Given the description of an element on the screen output the (x, y) to click on. 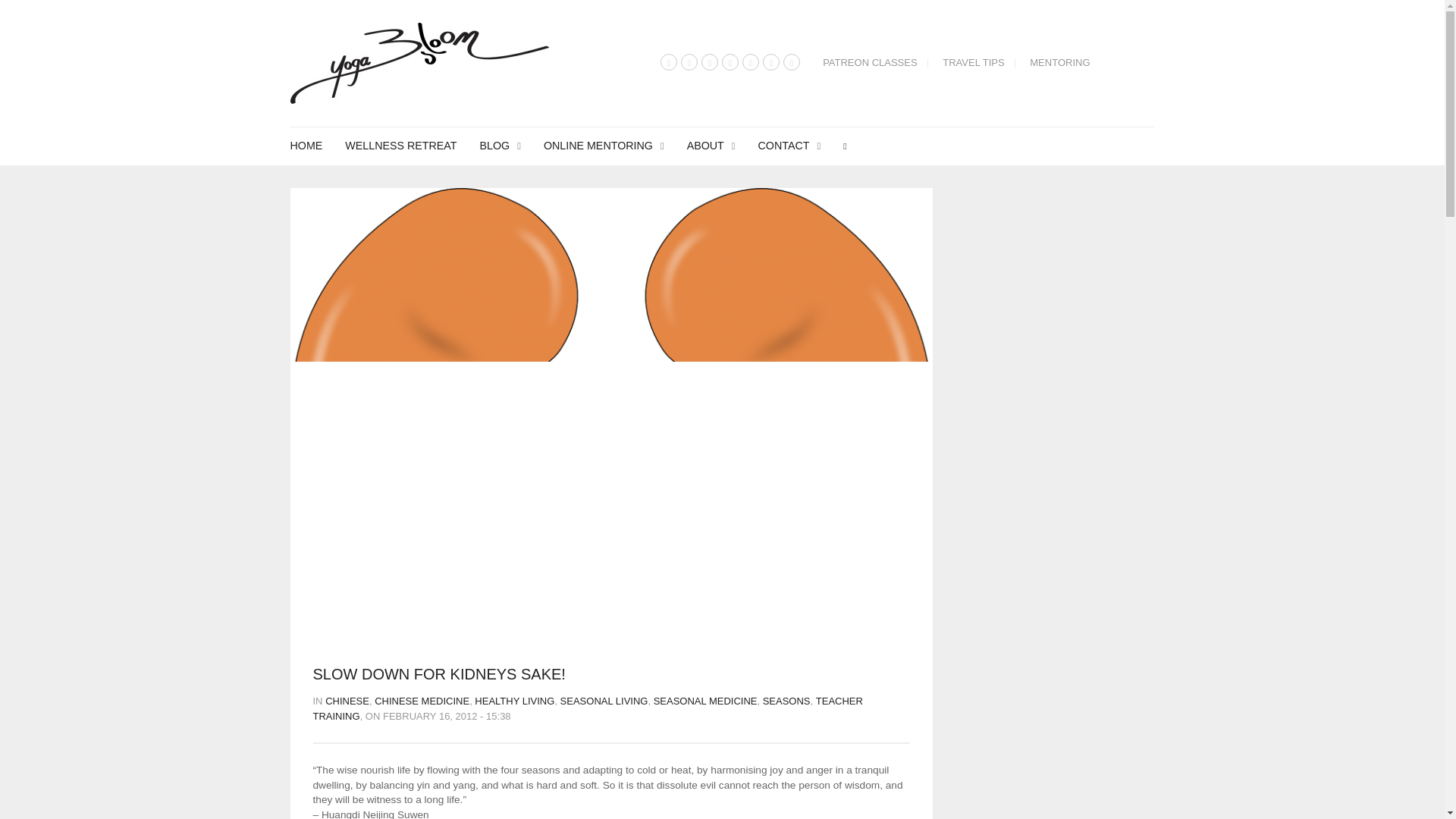
PATREON CLASSES (869, 61)
MENTORING (1055, 61)
TRAVEL TIPS (972, 61)
